Given the description of an element on the screen output the (x, y) to click on. 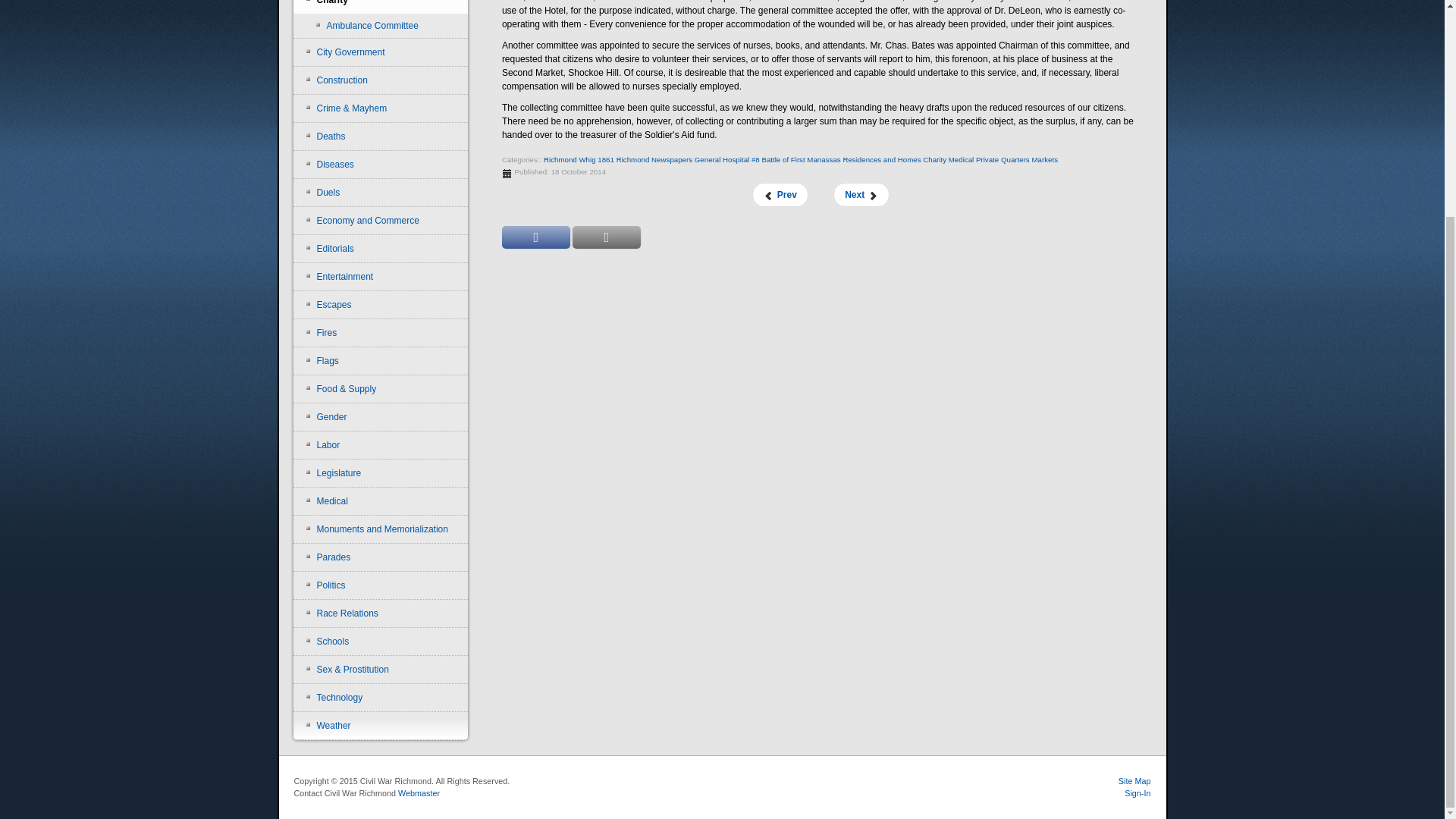
Prev (780, 194)
1861 (605, 159)
Private Quarters (1002, 159)
Residences and Homes (881, 159)
Medical (961, 159)
Charity (380, 6)
Battle of First Manassas (800, 159)
Richmond Whig (569, 159)
Markets (1044, 159)
Richmond Newspapers (654, 159)
Charity (934, 159)
Next (860, 194)
